Given the description of an element on the screen output the (x, y) to click on. 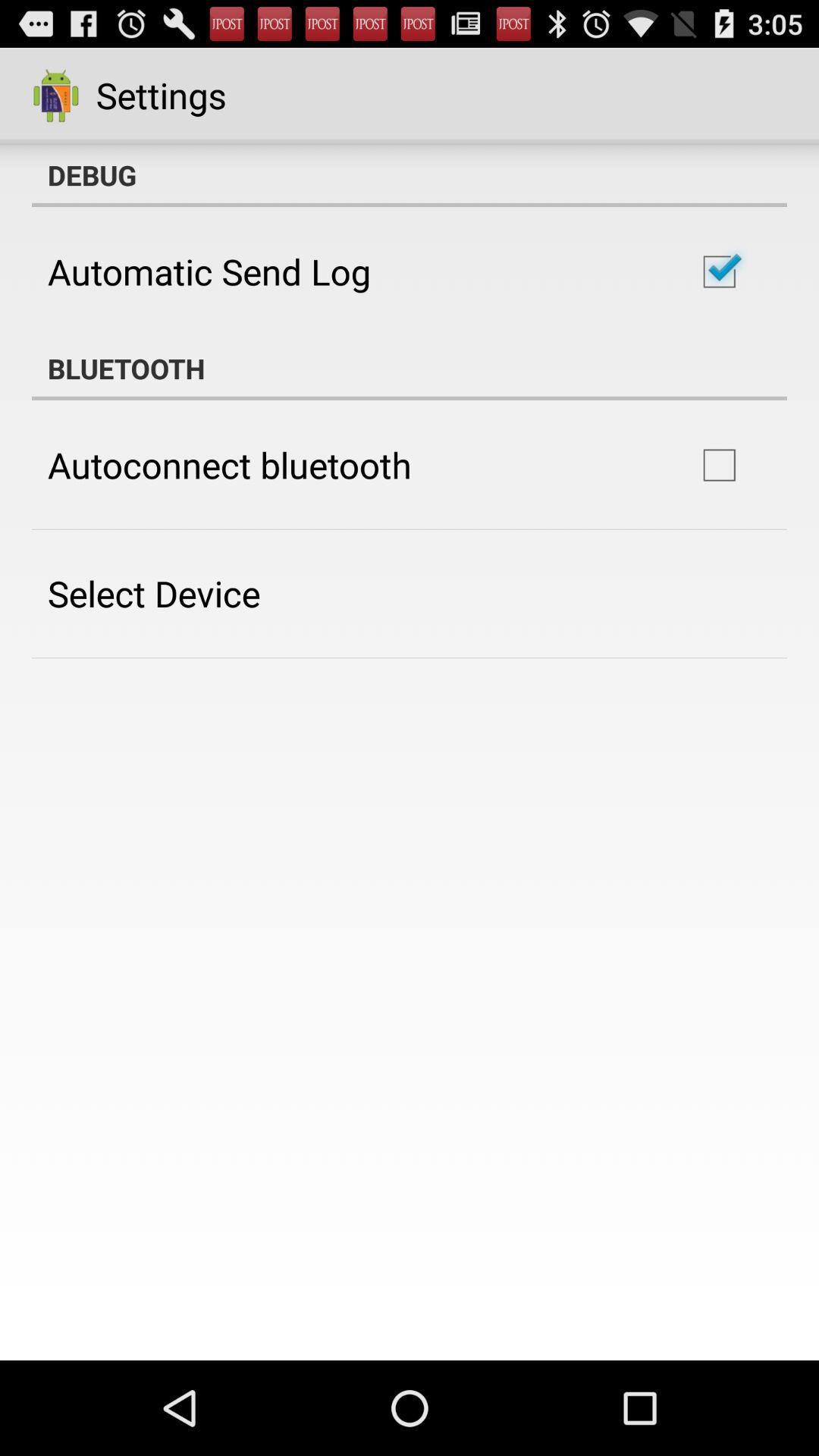
launch debug item (409, 175)
